Given the description of an element on the screen output the (x, y) to click on. 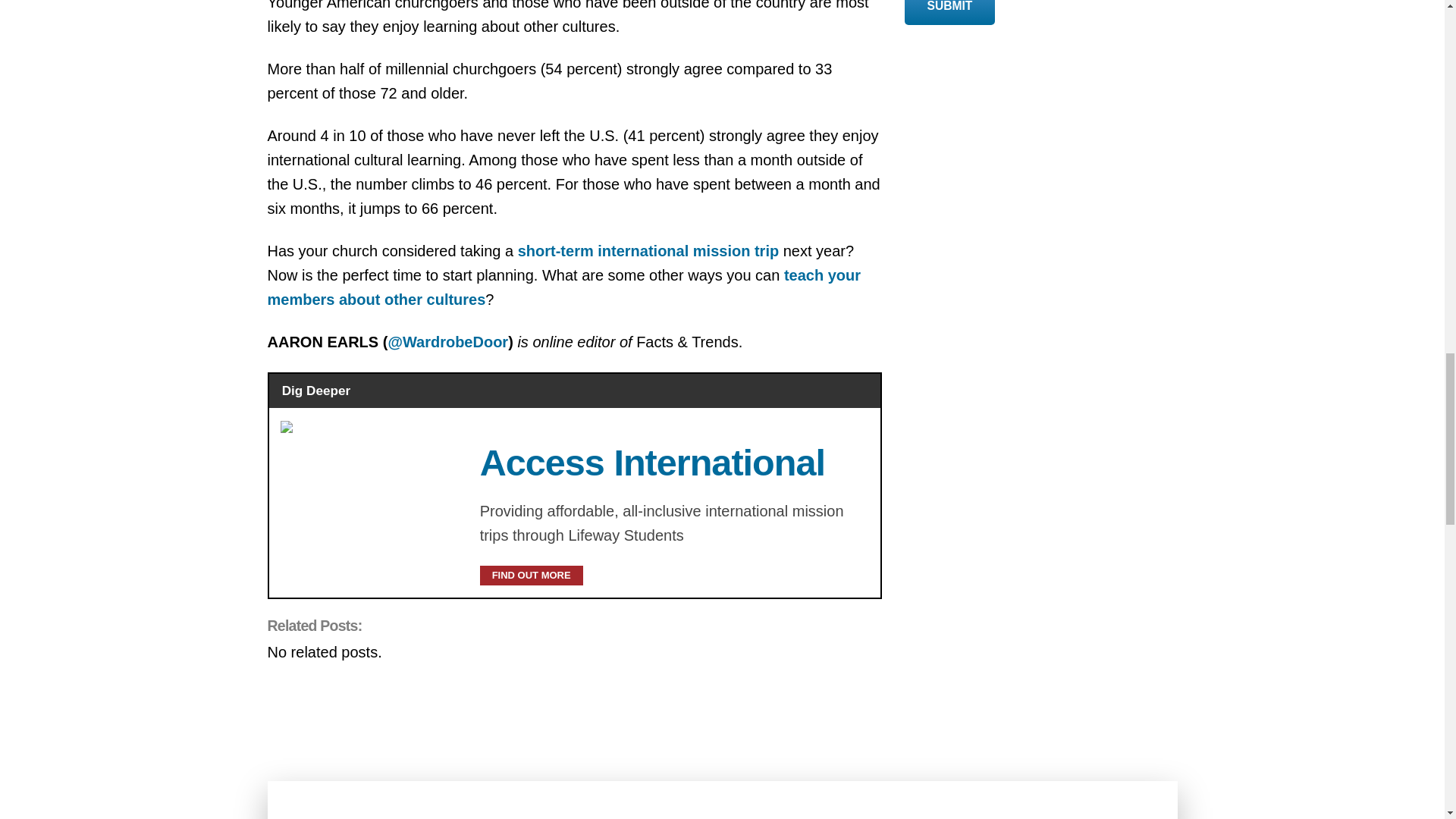
short-term international mission trip (648, 250)
Access International (652, 462)
Submit (949, 12)
FIND OUT MORE (531, 575)
teach your members about other cultures (563, 286)
